Given the description of an element on the screen output the (x, y) to click on. 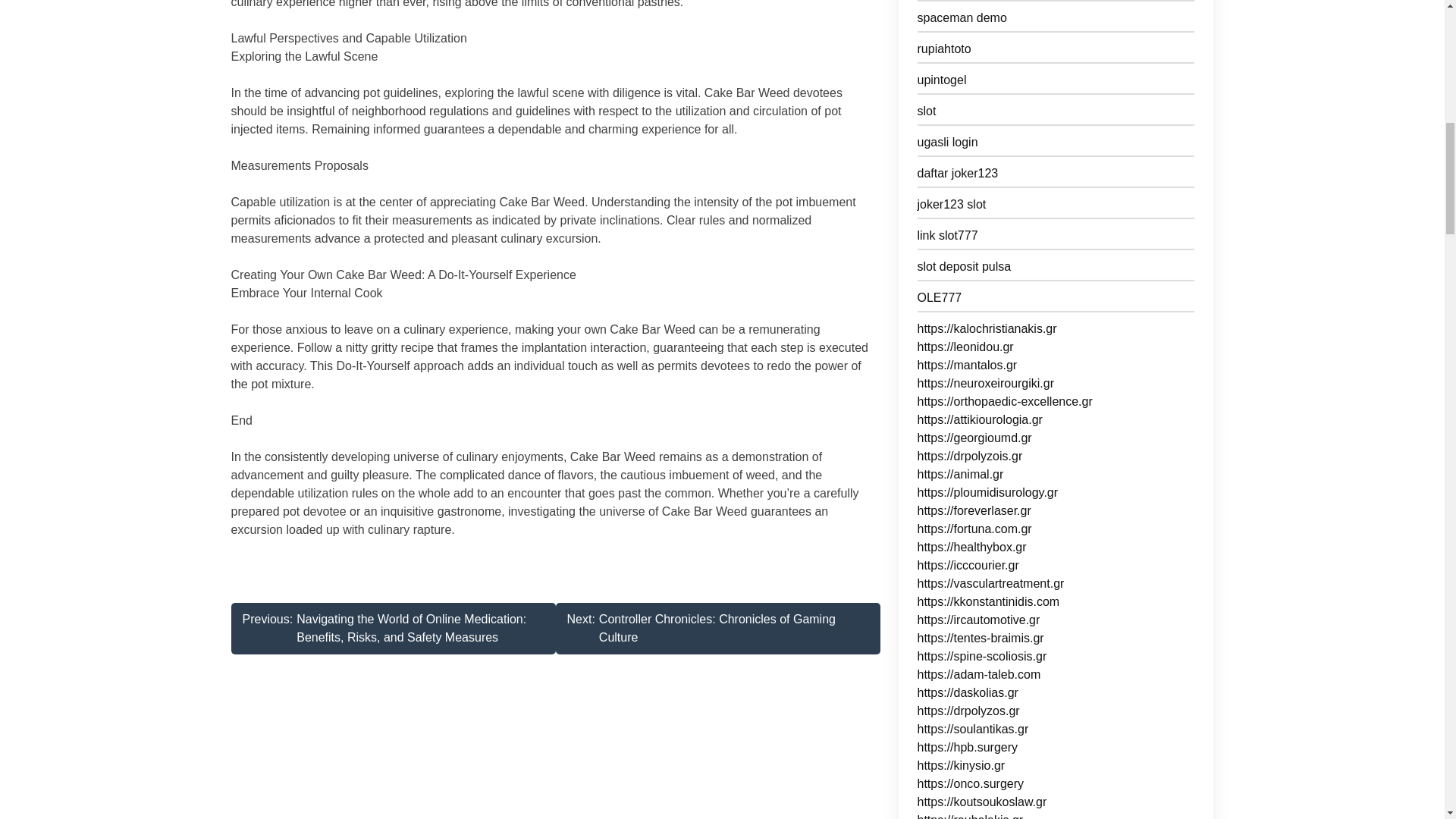
slot deposit pulsa (1056, 269)
rupiahtoto (1056, 51)
upintogel (1056, 83)
link slot777 (1056, 238)
ugasli login (716, 628)
OLE777 (1056, 145)
spaceman demo (1056, 300)
